Given the description of an element on the screen output the (x, y) to click on. 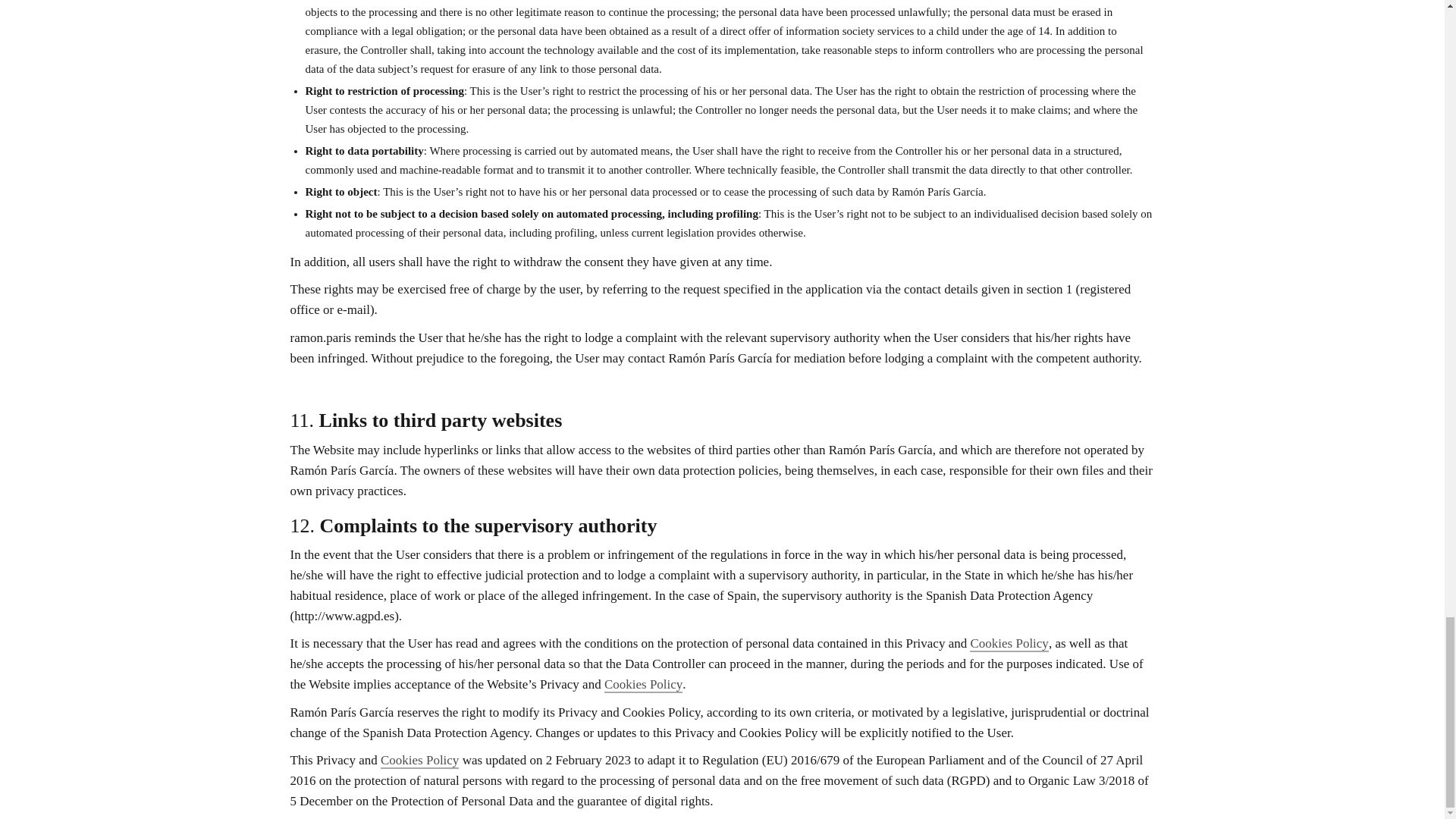
Cookies Policy (1008, 643)
Cookies Policy (643, 684)
Cookies Policy (419, 760)
